Given the description of an element on the screen output the (x, y) to click on. 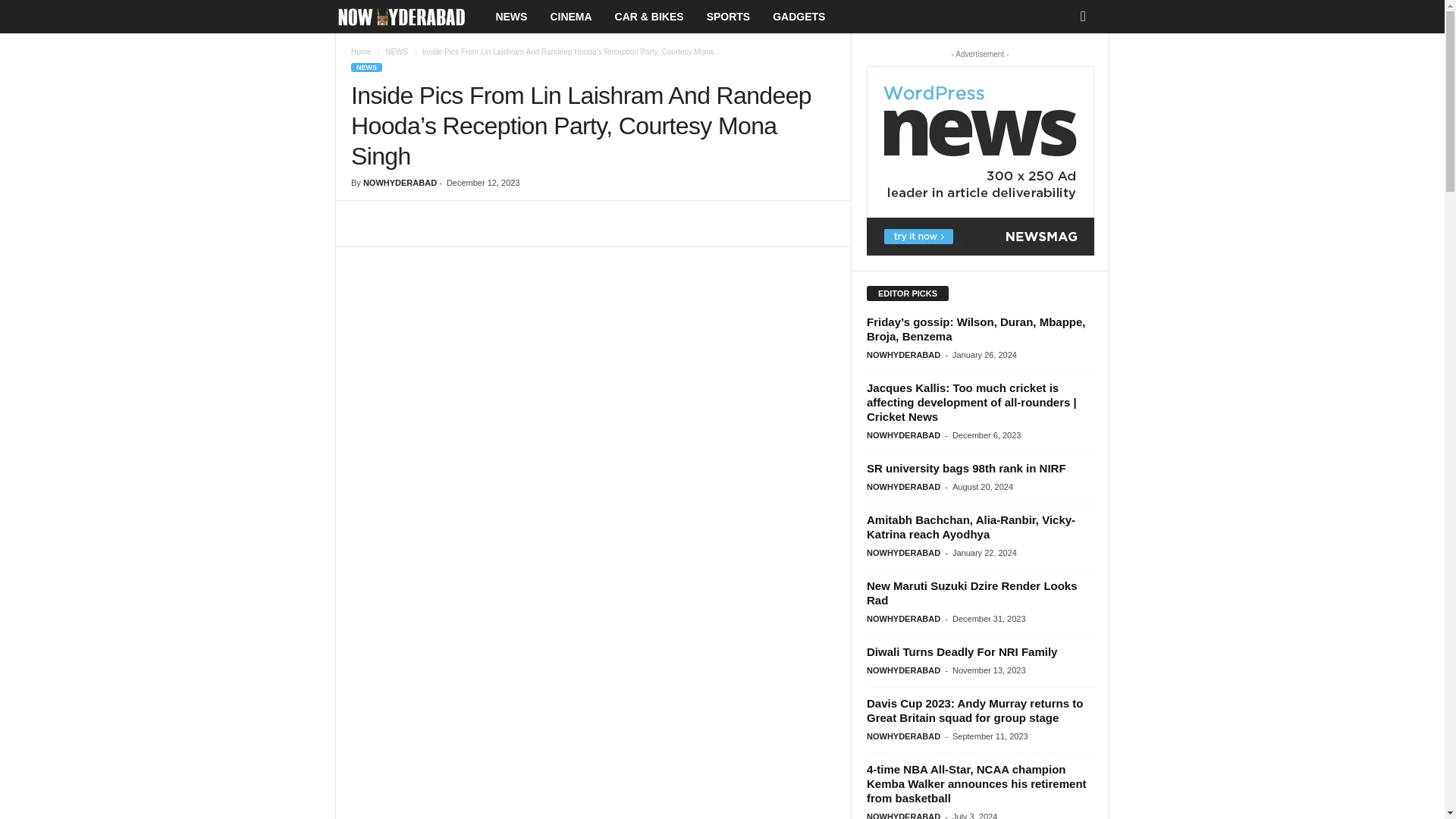
SPORTS (728, 16)
NOW HYDERABAD (408, 16)
NEWS (365, 67)
Home (360, 51)
GADGETS (798, 16)
CINEMA (570, 16)
View all posts in NEWS (396, 51)
NEWS (510, 16)
NEWS (396, 51)
NOWHYDERABAD (399, 182)
